Given the description of an element on the screen output the (x, y) to click on. 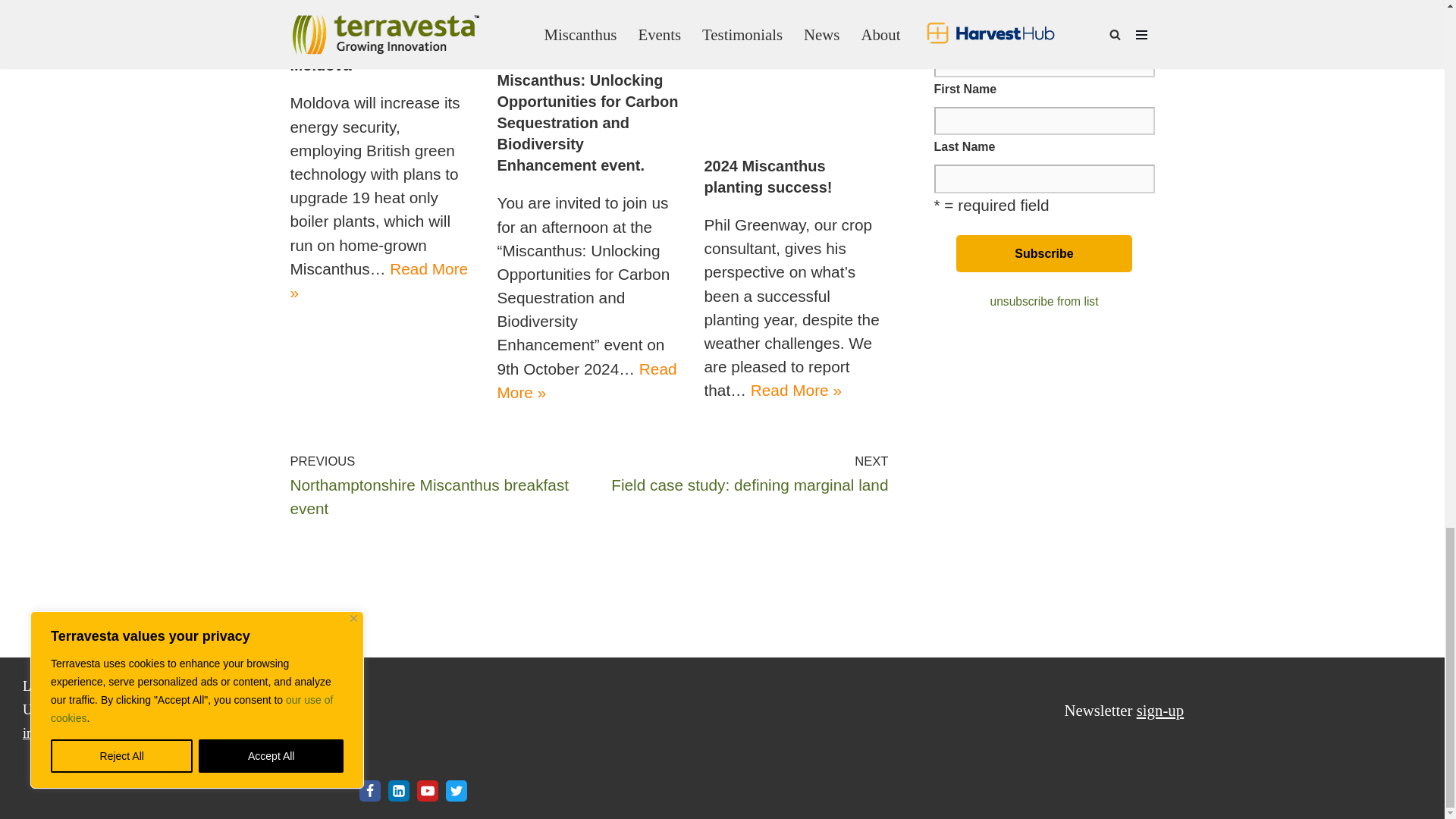
Facebook (369, 790)
LinkedIn (398, 790)
Subscribe (1044, 253)
Youtube (427, 790)
